Given the description of an element on the screen output the (x, y) to click on. 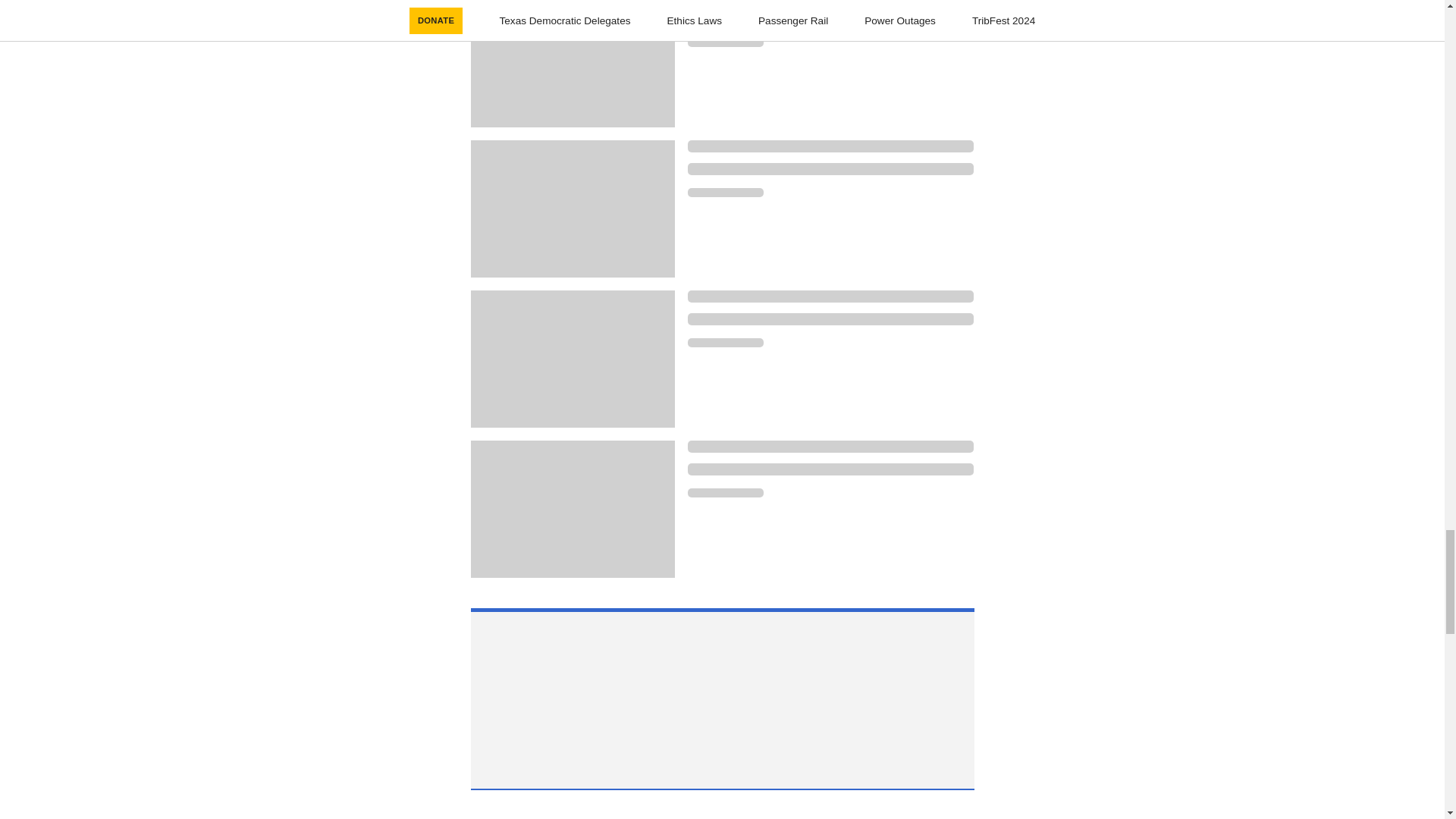
Loading indicator (724, 192)
Loading indicator (830, 19)
Loading indicator (724, 492)
Loading indicator (724, 41)
Loading indicator (830, 318)
Loading indicator (830, 446)
Loading indicator (724, 342)
Loading indicator (830, 296)
Loading indicator (830, 469)
Loading indicator (830, 168)
Loading indicator (830, 146)
